Given the description of an element on the screen output the (x, y) to click on. 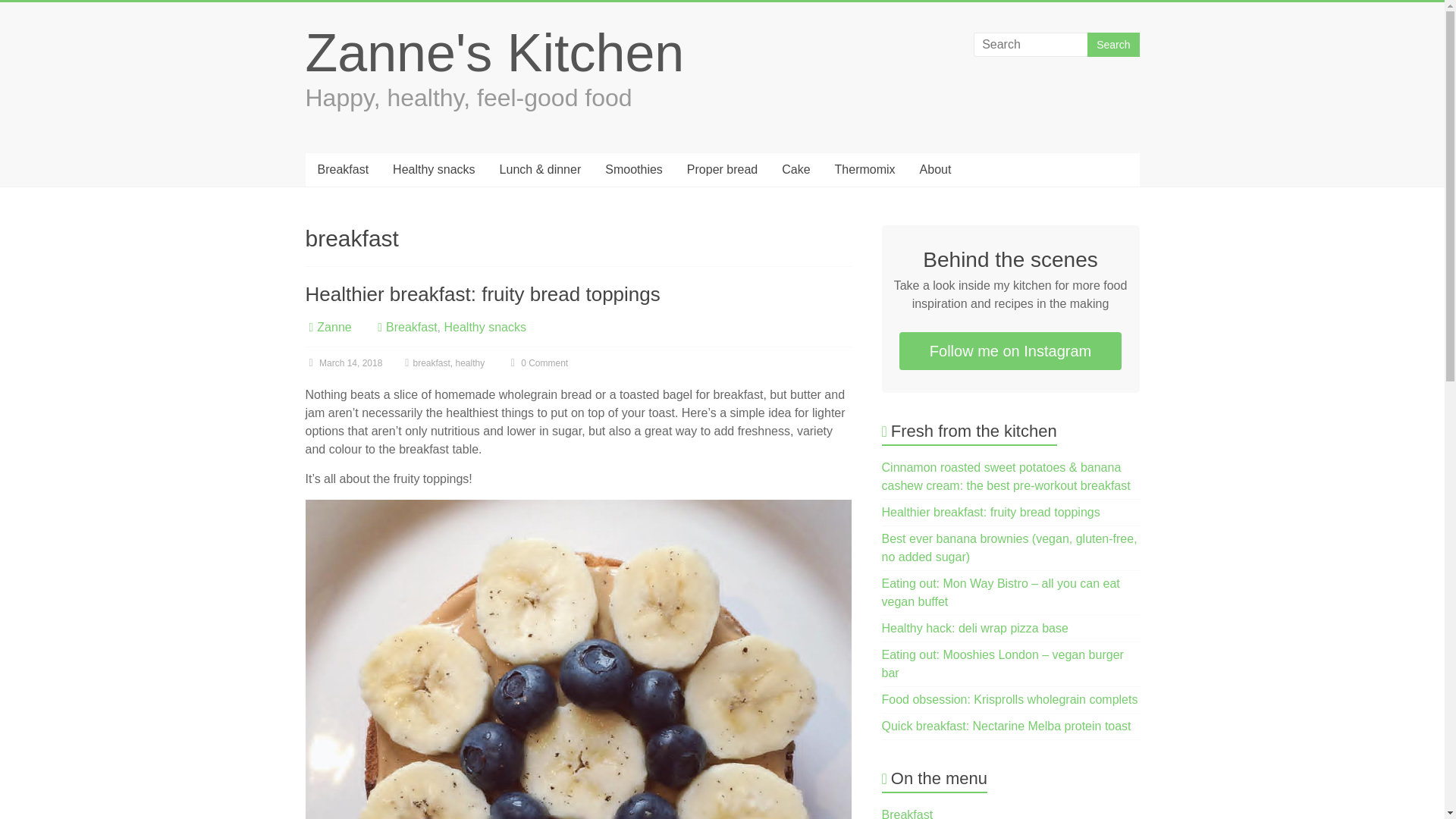
4:20 pm (342, 362)
Healthier breakfast: fruity bread toppings (991, 512)
Smoothies (633, 169)
Zanne's Kitchen (494, 52)
Cake (796, 169)
Breakfast (411, 327)
breakfast (430, 362)
About (935, 169)
March 14, 2018 (342, 362)
Zanne's Kitchen (494, 52)
